Given the description of an element on the screen output the (x, y) to click on. 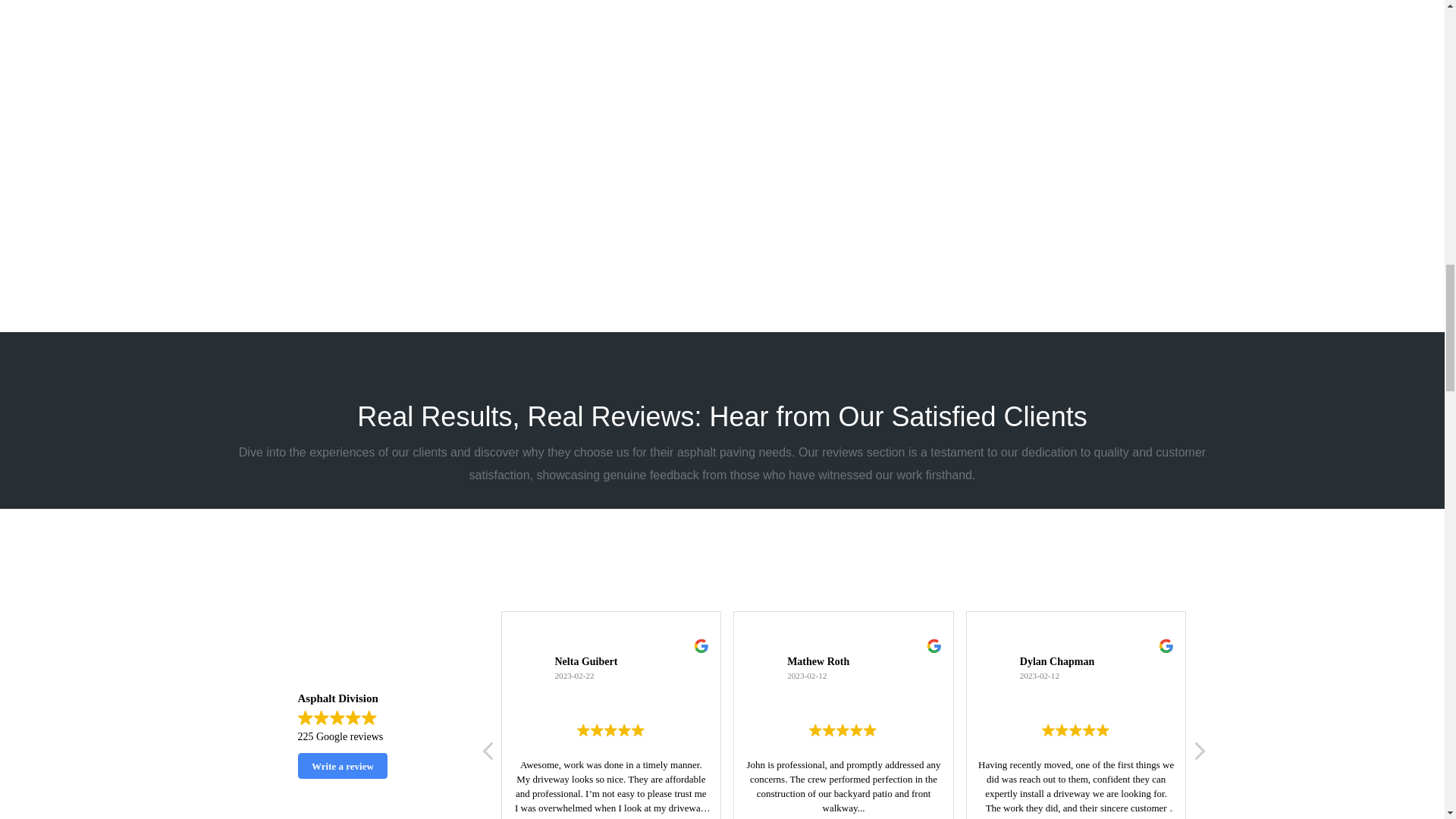
Write a review (342, 765)
